Given the description of an element on the screen output the (x, y) to click on. 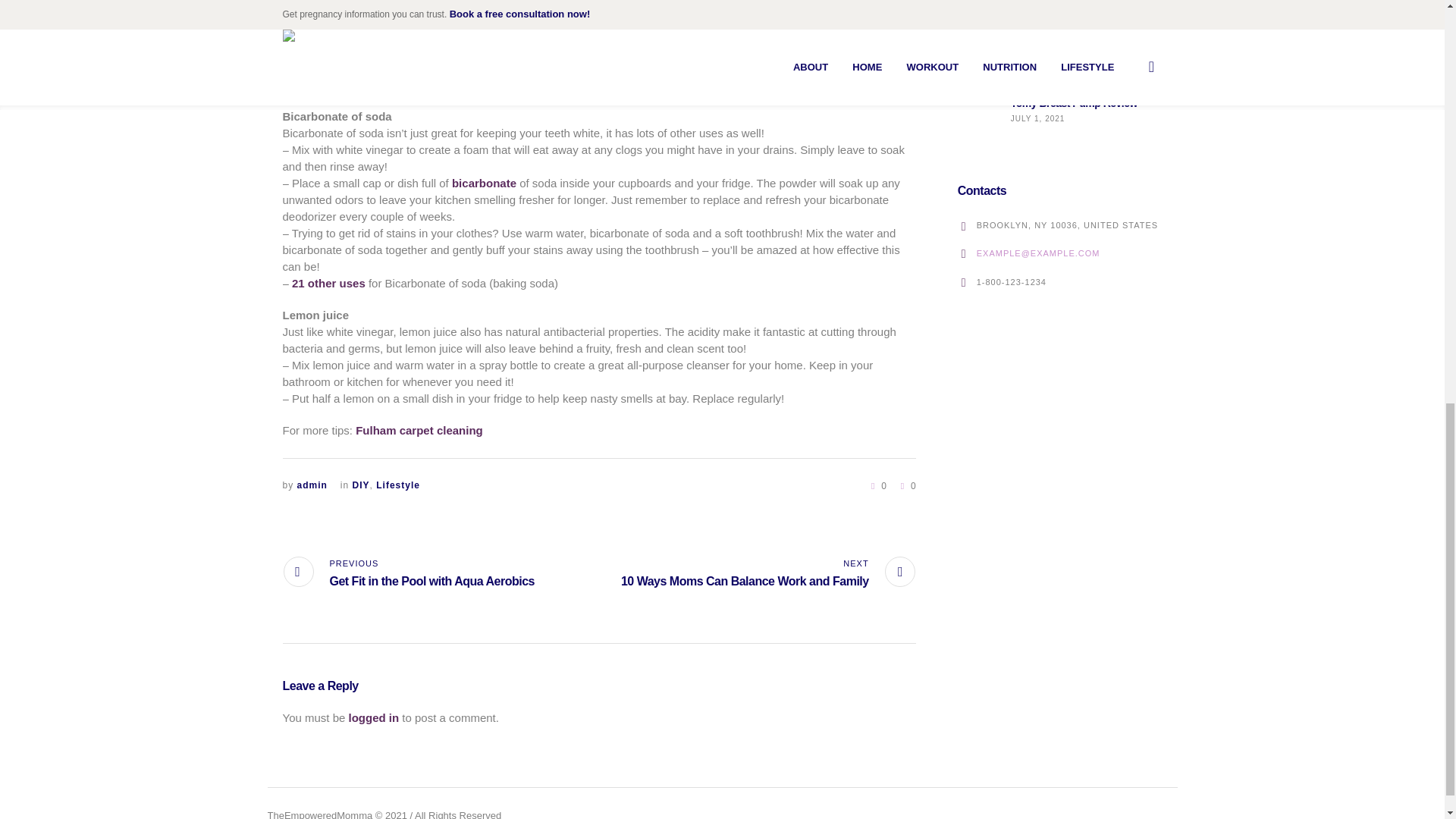
0 (905, 484)
DIY (360, 484)
Get Fit in the Pool with Aqua Aerobics (408, 573)
bicarbonate (483, 182)
Tomy Breast Pump Review (976, 108)
Kids Step Stool Reviews (976, 9)
Posts by admin (312, 484)
Lifestyle (397, 484)
Comment on How to make your own cleaning products! (905, 484)
Breast Pump Bag Reviews (976, 53)
Tomy Breast Pump Review (1073, 102)
Breast Pump Bag Reviews (1072, 48)
admin (312, 484)
Breast Pump Bag Reviews (976, 51)
10 Ways Moms Can Balance Work and Family (768, 573)
